Given the description of an element on the screen output the (x, y) to click on. 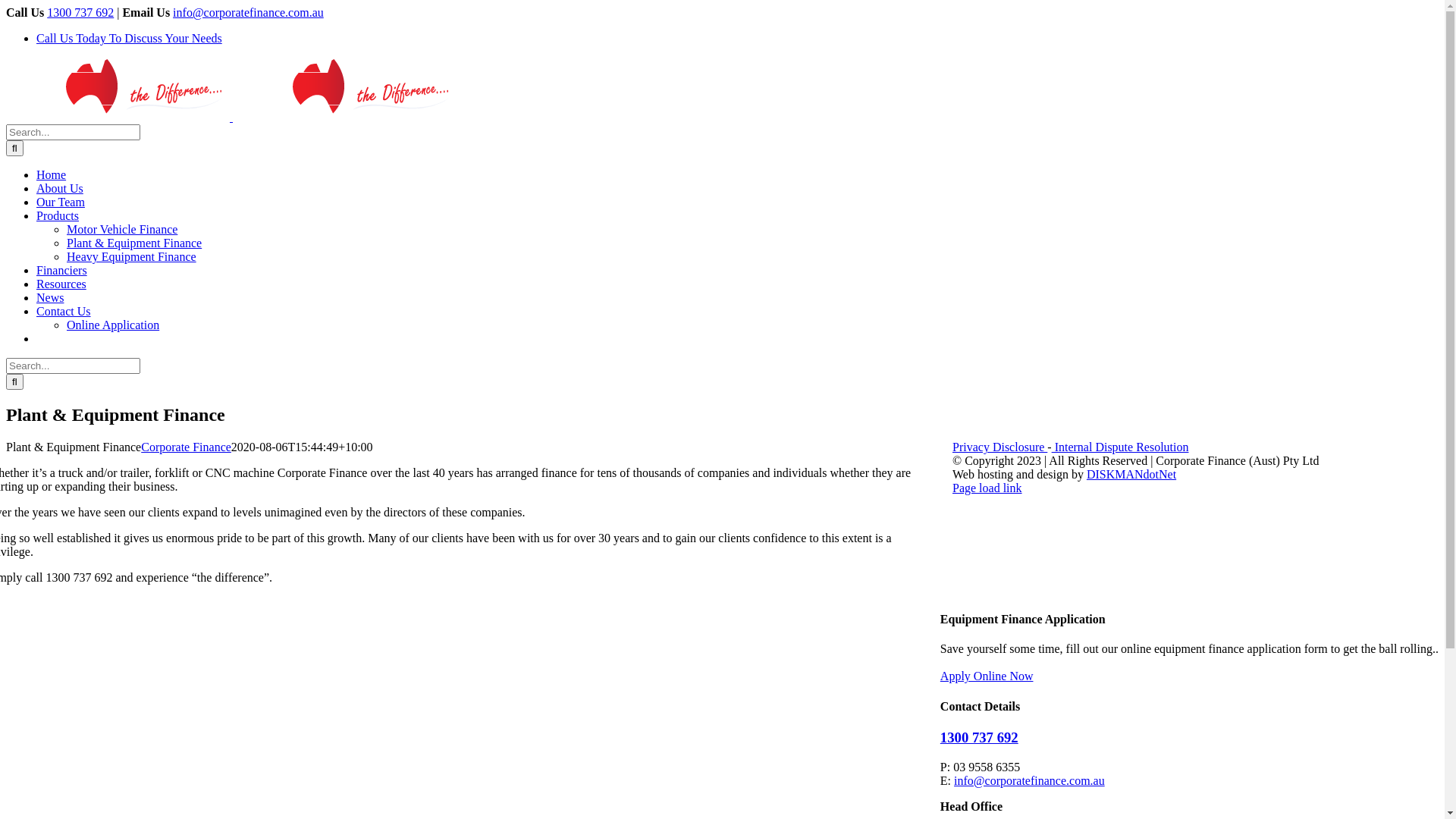
Motor Vehicle Finance Element type: text (121, 228)
Heavy Equipment Finance Element type: text (131, 256)
Resources Element type: text (61, 283)
Corporate Finance Element type: text (186, 446)
About Us Element type: text (59, 188)
Call Us Today To Discuss Your Needs Element type: text (129, 37)
info@corporatefinance.com.au Element type: text (247, 12)
1300 737 692 Element type: text (979, 737)
Financiers Element type: text (61, 269)
Plant & Equipment Finance Element type: text (133, 242)
Privacy Disclosure Element type: text (999, 446)
Our Team Element type: text (60, 201)
Apply Online Now Element type: text (986, 675)
Internal Dispute Resolution Element type: text (1120, 446)
Products Element type: text (57, 215)
DISKMANdotNet Element type: text (1131, 473)
News Element type: text (49, 297)
Page load link Element type: text (987, 487)
Contact Us Element type: text (63, 310)
Skip to content Element type: text (5, 5)
Online Application Element type: text (112, 324)
info@corporatefinance.com.au Element type: text (1028, 780)
1300 737 692 Element type: text (80, 12)
Home Element type: text (50, 174)
